Given the description of an element on the screen output the (x, y) to click on. 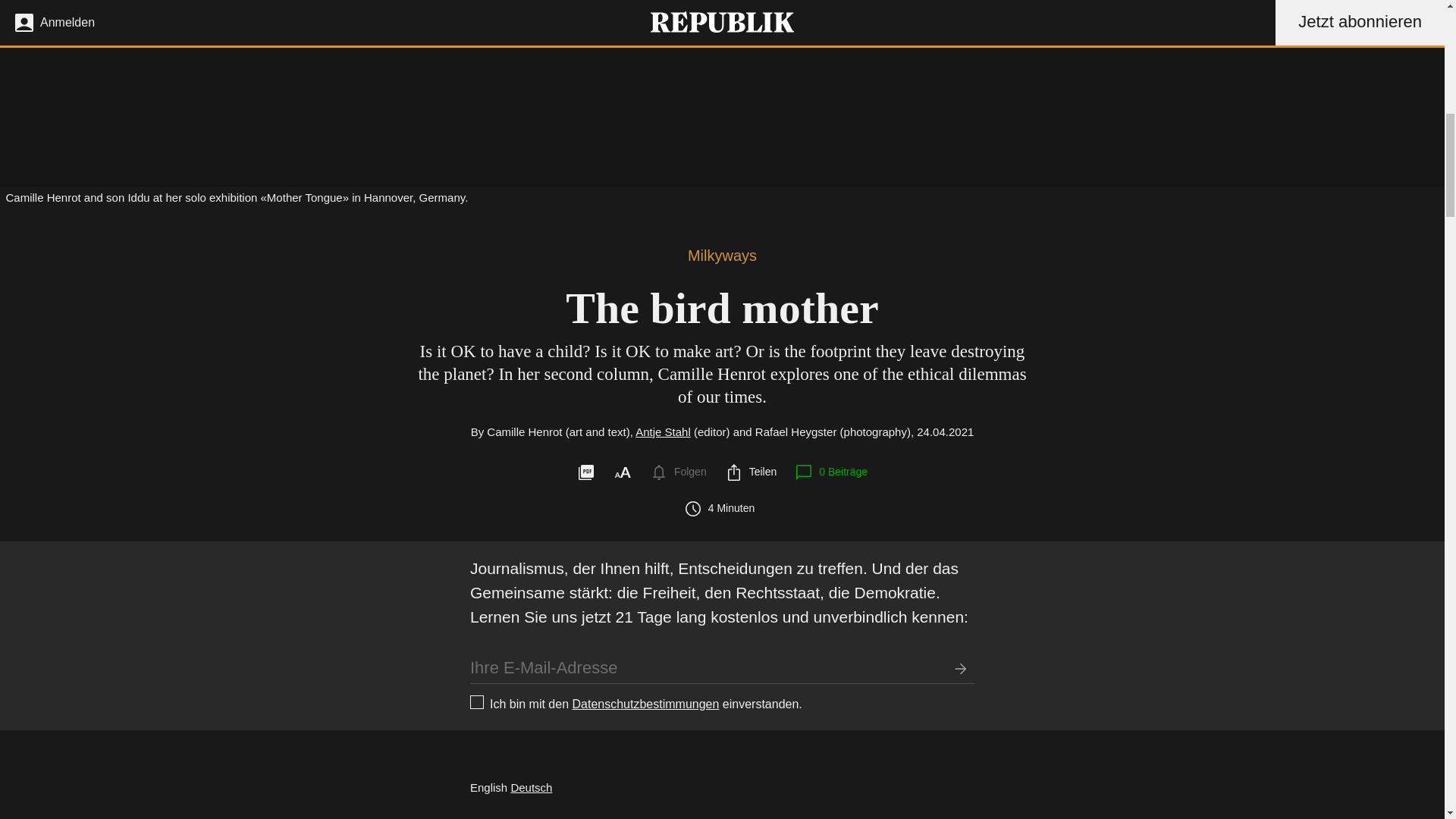
Die Rabenmutter (531, 787)
Antje Stahl (662, 431)
Antje Stahl (662, 431)
PDF-Optionen (585, 472)
Teilen (751, 472)
Teilen (751, 472)
Folgen (677, 472)
Milkyways (722, 255)
Deutsch (531, 787)
4 Minuten (722, 508)
